Given the description of an element on the screen output the (x, y) to click on. 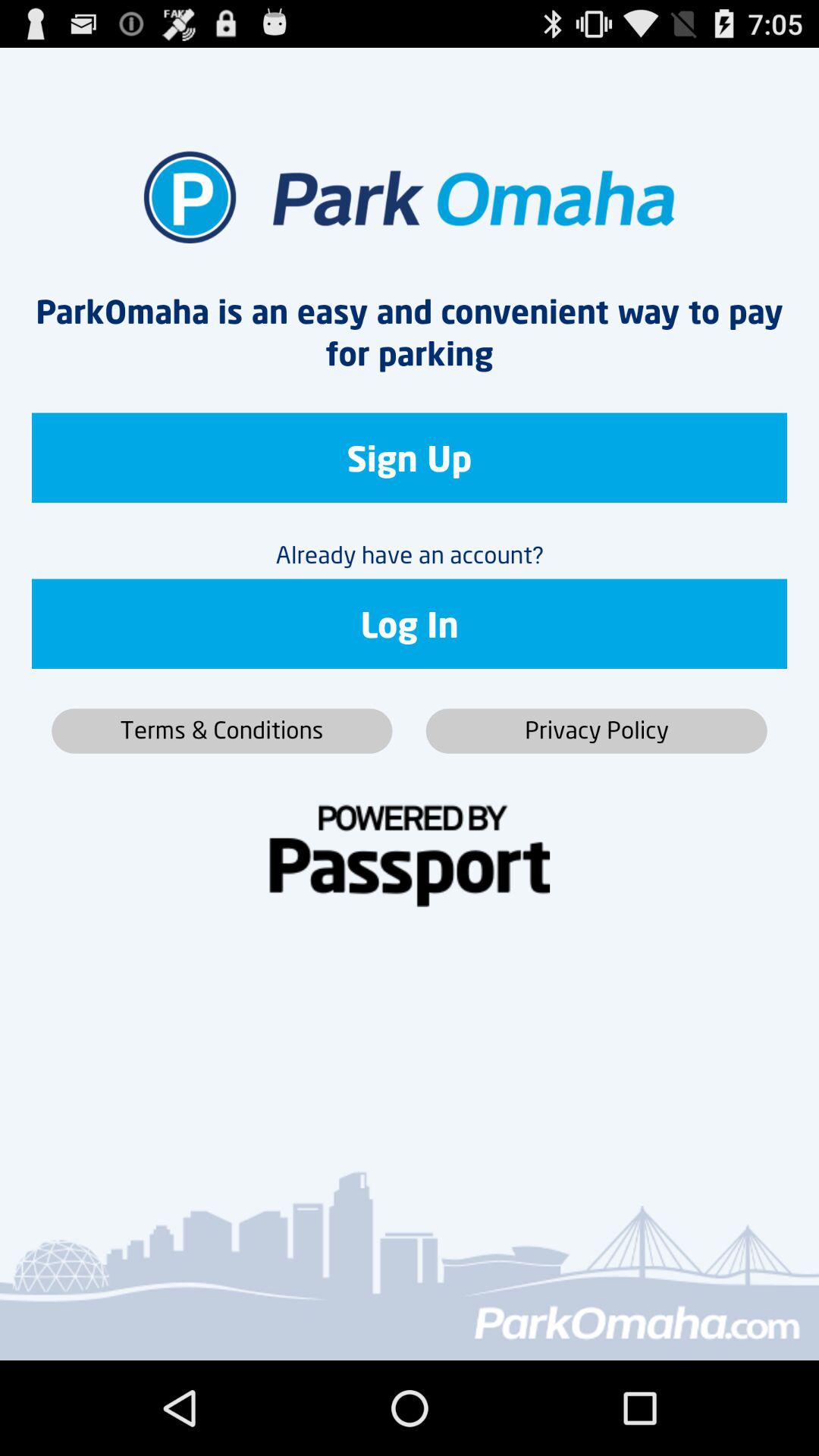
open the terms & conditions on the left (221, 730)
